Given the description of an element on the screen output the (x, y) to click on. 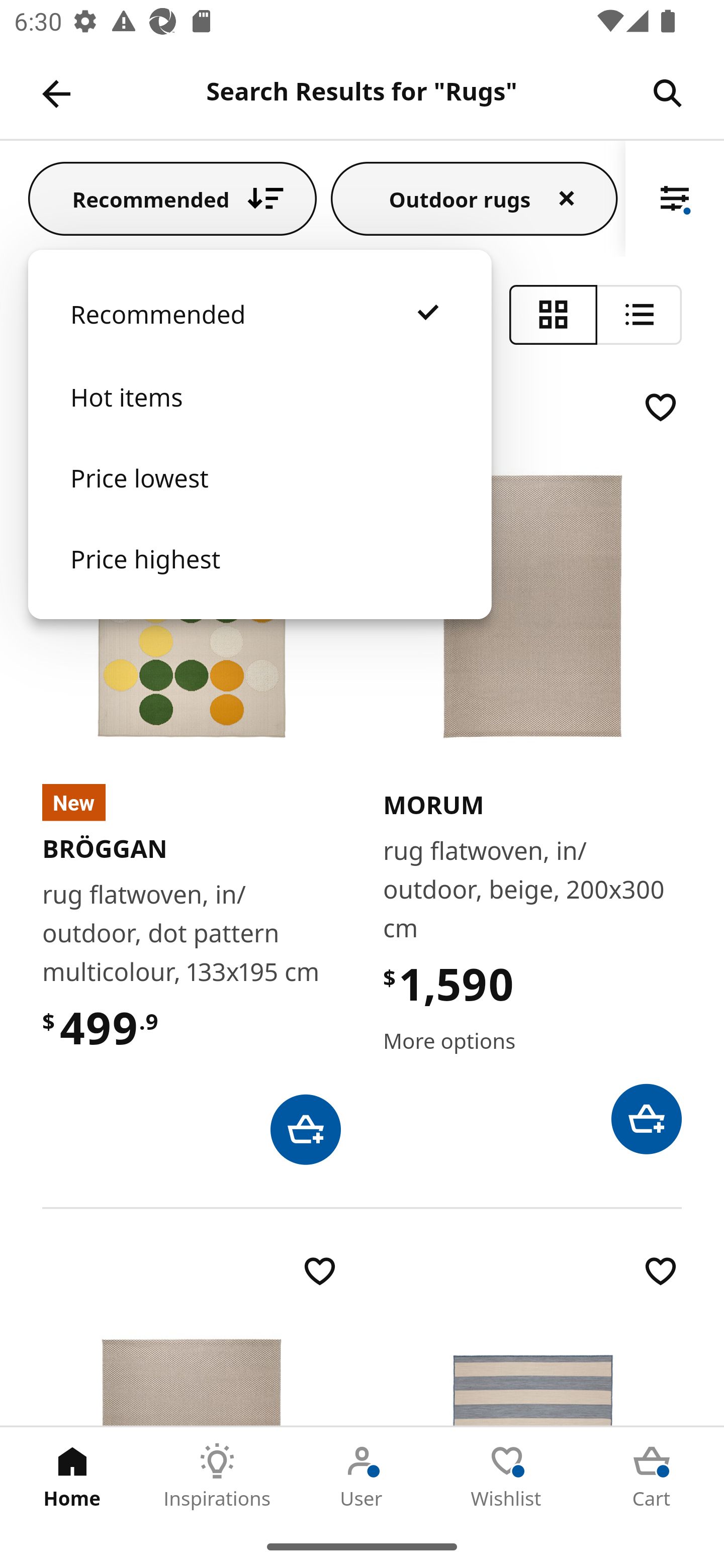
Recommended (172, 198)
Outdoor rugs (473, 198)
Recommended (259, 333)
Hot items (259, 416)
Price lowest (259, 497)
Price highest (259, 578)
Home
Tab 1 of 5 (72, 1476)
Inspirations
Tab 2 of 5 (216, 1476)
User
Tab 3 of 5 (361, 1476)
Wishlist
Tab 4 of 5 (506, 1476)
Cart
Tab 5 of 5 (651, 1476)
